Given the description of an element on the screen output the (x, y) to click on. 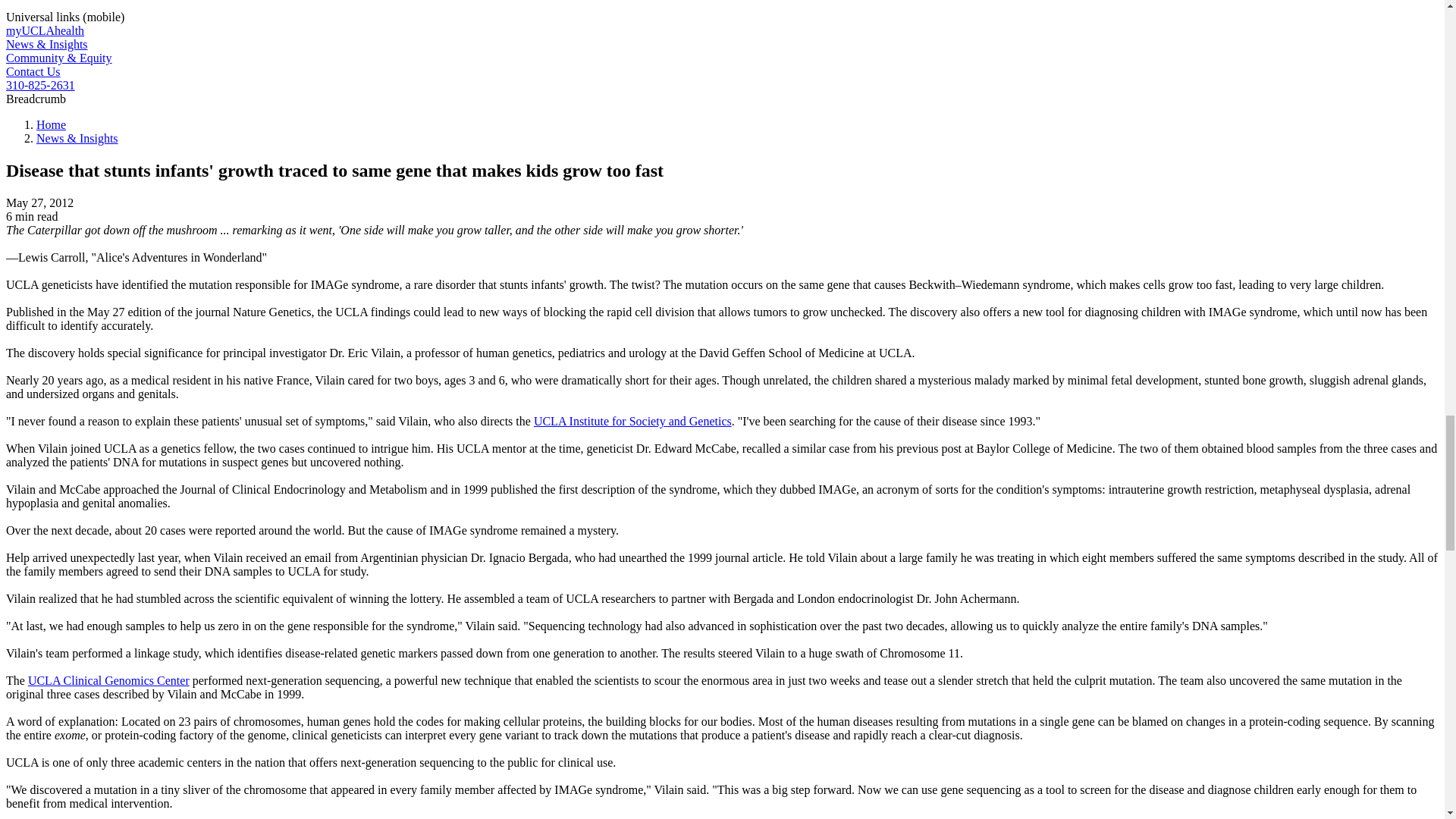
myUCLAhealth Login. (44, 30)
